Given the description of an element on the screen output the (x, y) to click on. 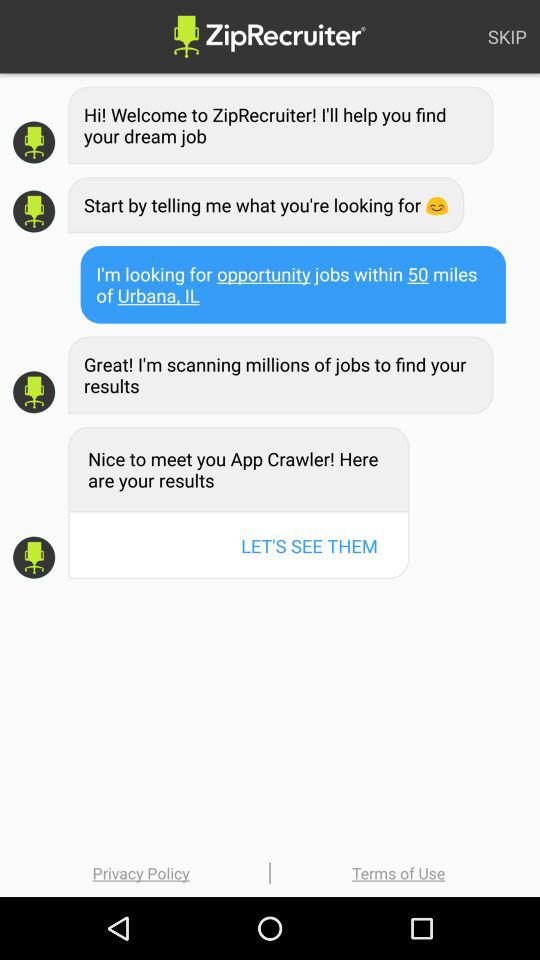
select the let s see item (309, 545)
